Given the description of an element on the screen output the (x, y) to click on. 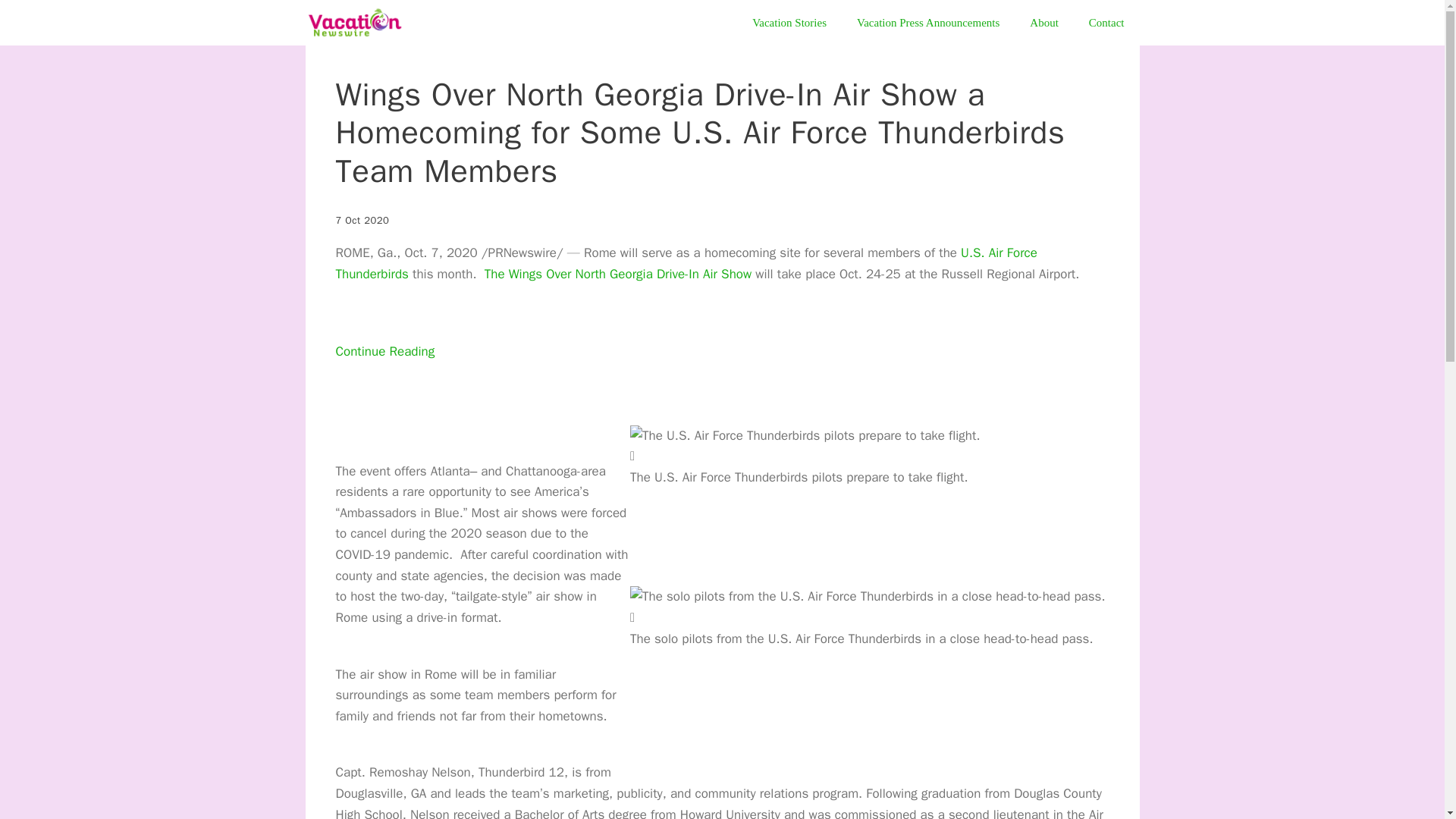
Vacation Newswire (357, 22)
Contact (1107, 22)
The Wings Over North Georgia Drive-In Air Show (617, 273)
U.S. Air Force Thunderbirds (685, 262)
About (1044, 22)
Vacation Newswire (353, 22)
Continue Reading (383, 372)
Continue Reading (383, 372)
Vacation Stories (788, 22)
Vacation Press Announcements (927, 22)
